Given the description of an element on the screen output the (x, y) to click on. 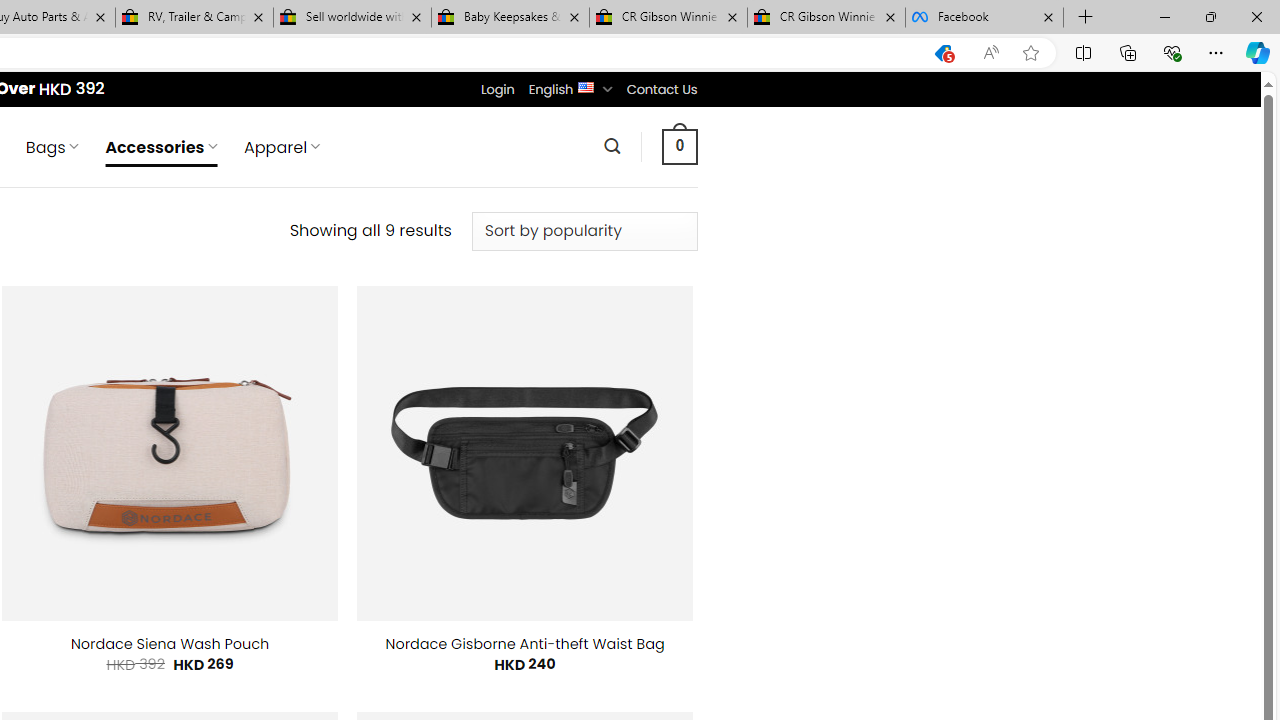
English (586, 86)
Nordace Gisborne Anti-theft Waist Bag (525, 643)
Nordace Siena Wash Pouch (170, 643)
This site has coupons! Shopping in Microsoft Edge, 5 (943, 53)
